Given the description of an element on the screen output the (x, y) to click on. 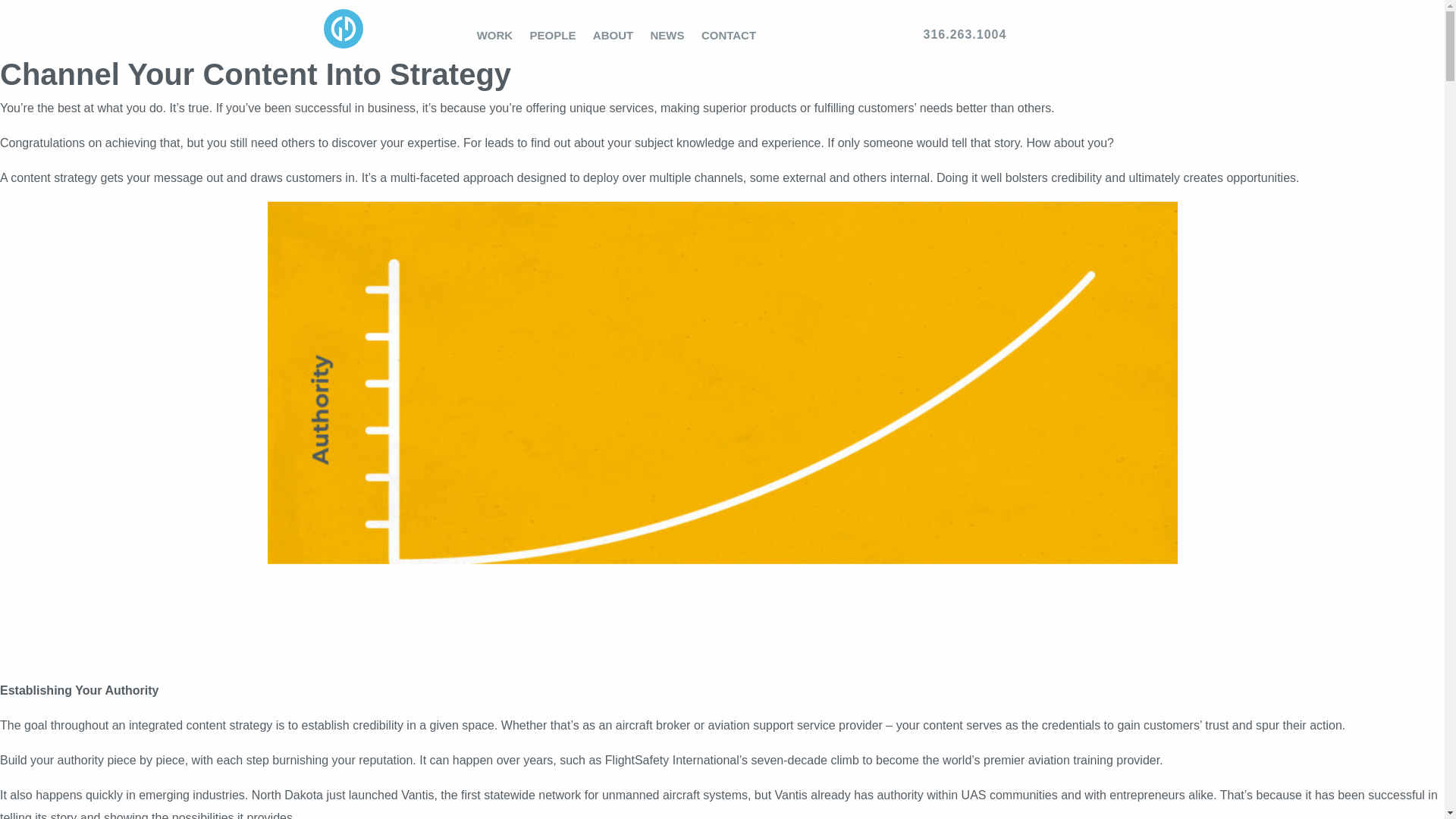
Click to call on mobile (1025, 34)
PEOPLE (552, 35)
WORK (494, 35)
Greteman Group Home Page (343, 48)
ABOUT (613, 35)
